Given the description of an element on the screen output the (x, y) to click on. 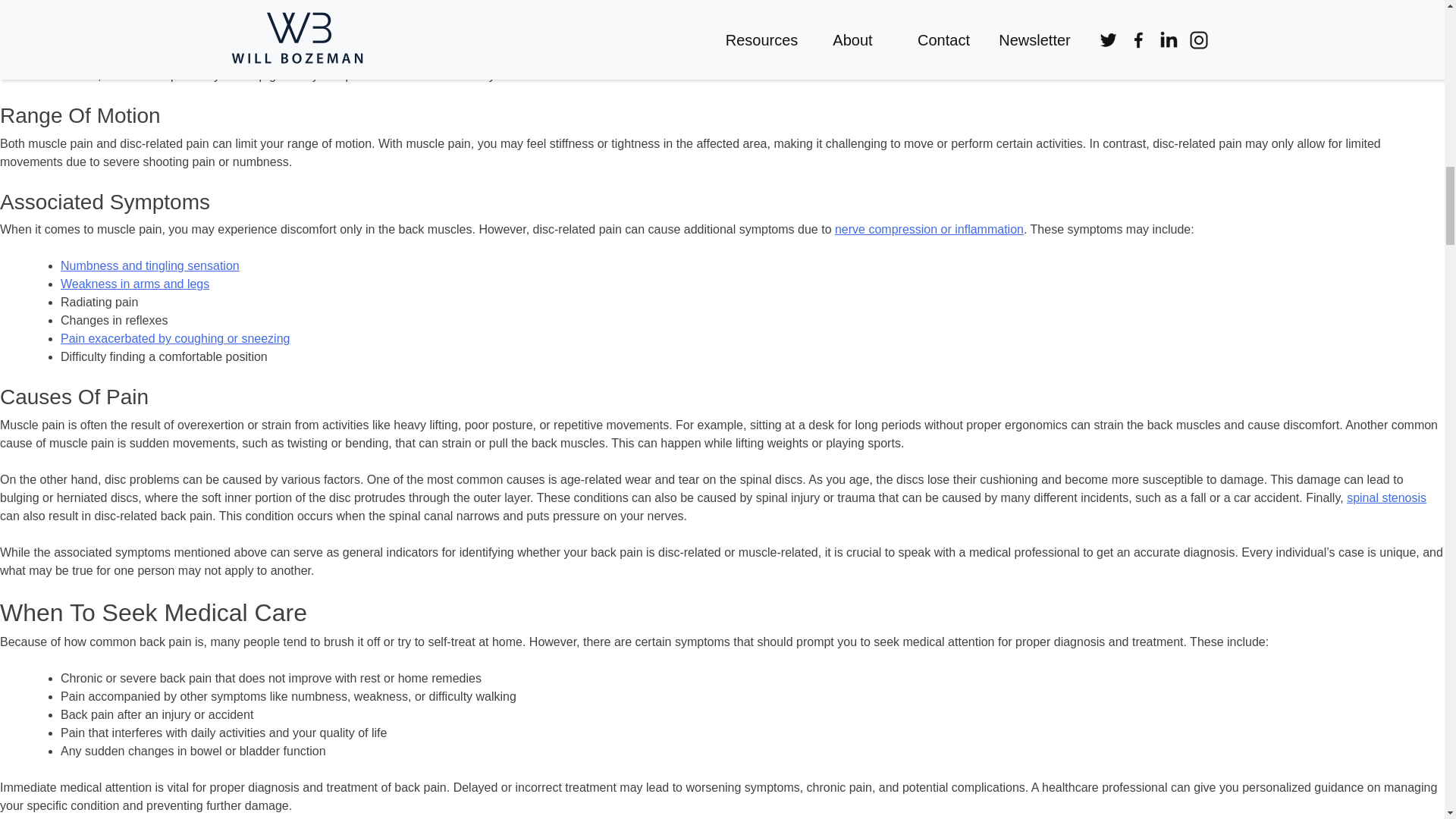
Pain exacerbated by coughing or sneezing (175, 338)
nerve compression or inflammation (928, 228)
Weakness in arms and legs (135, 283)
Numbness and tingling sensation (150, 265)
spinal stenosis (1386, 497)
